Given the description of an element on the screen output the (x, y) to click on. 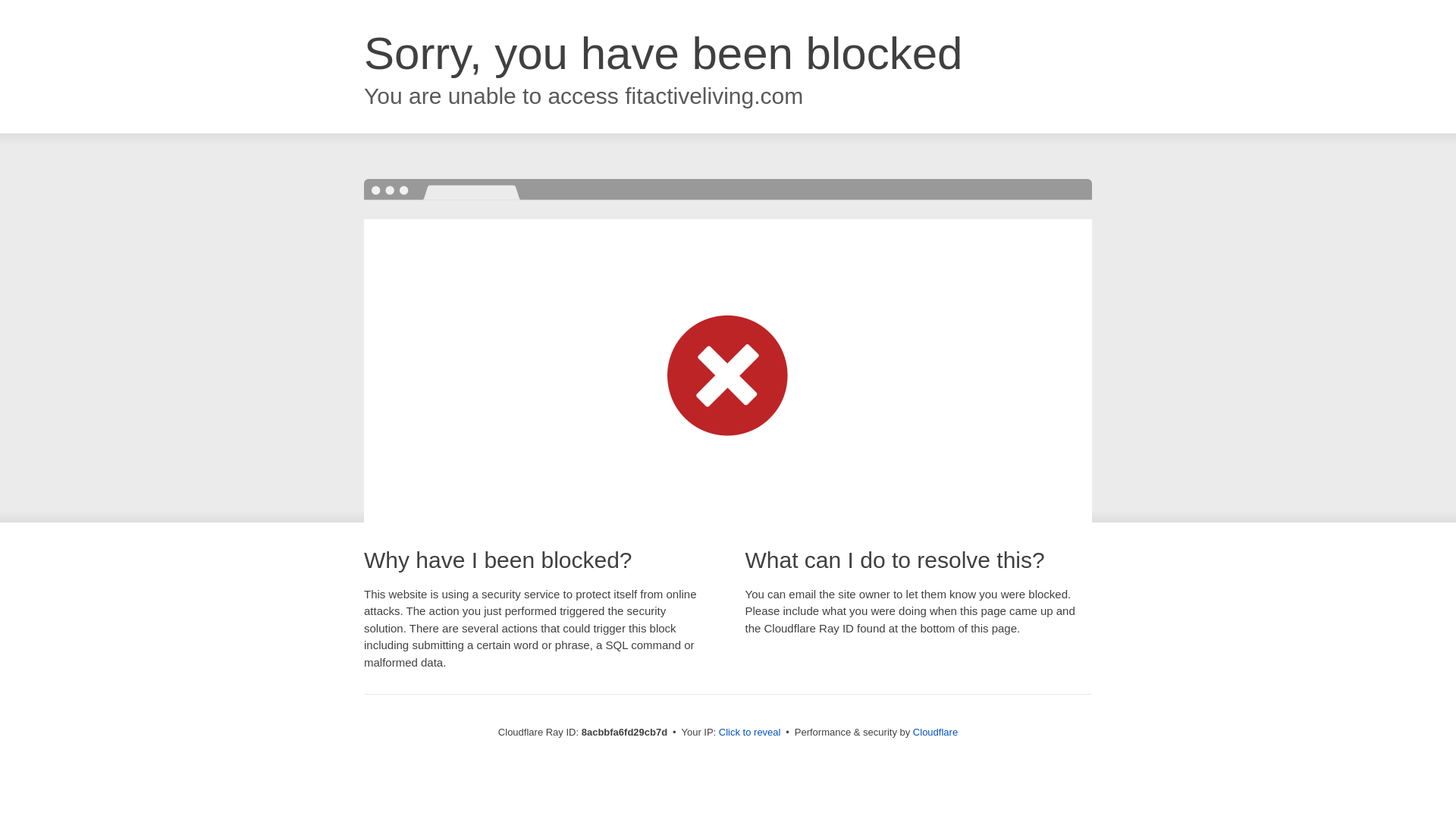
Cloudflare (935, 731)
Click to reveal (749, 732)
